Given the description of an element on the screen output the (x, y) to click on. 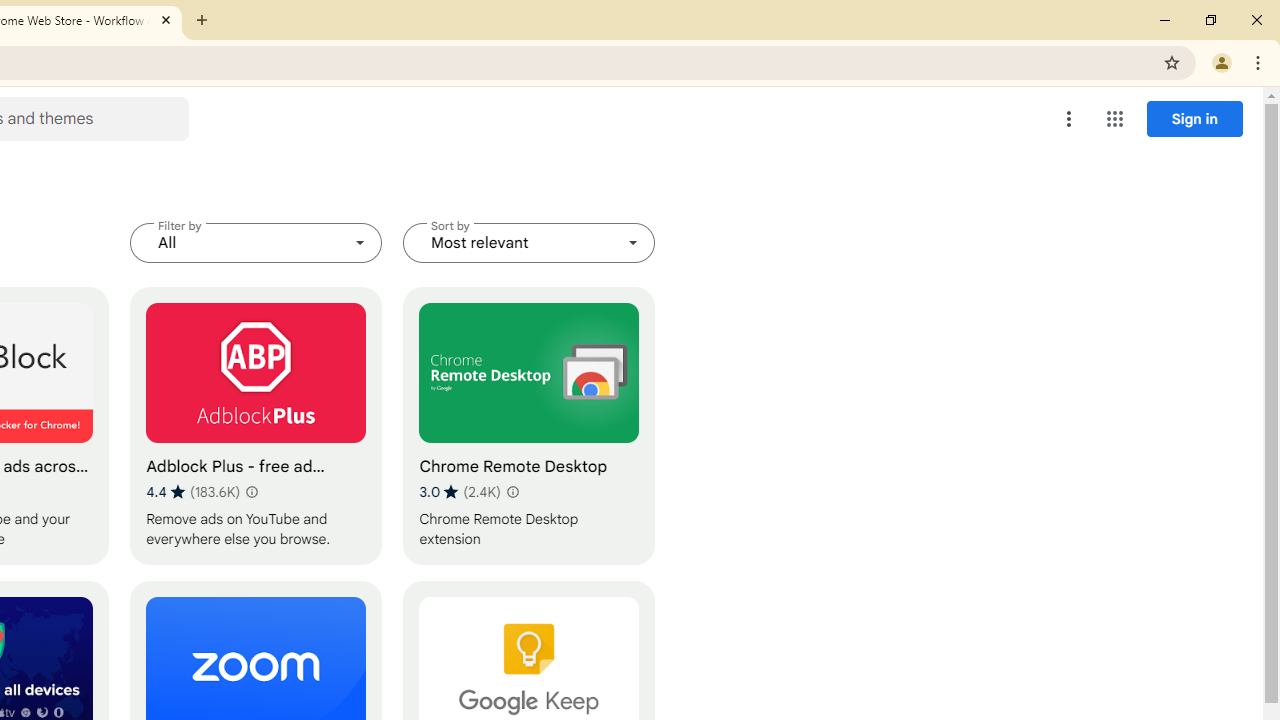
Chrome Remote Desktop (529, 426)
Learn more about results and reviews "Chrome Remote Desktop" (511, 491)
Average rating 4.4 out of 5 stars. 183.6K ratings. (192, 491)
Adblock Plus - free ad blocker (256, 426)
More options menu (1069, 118)
Filter by All (256, 242)
